Given the description of an element on the screen output the (x, y) to click on. 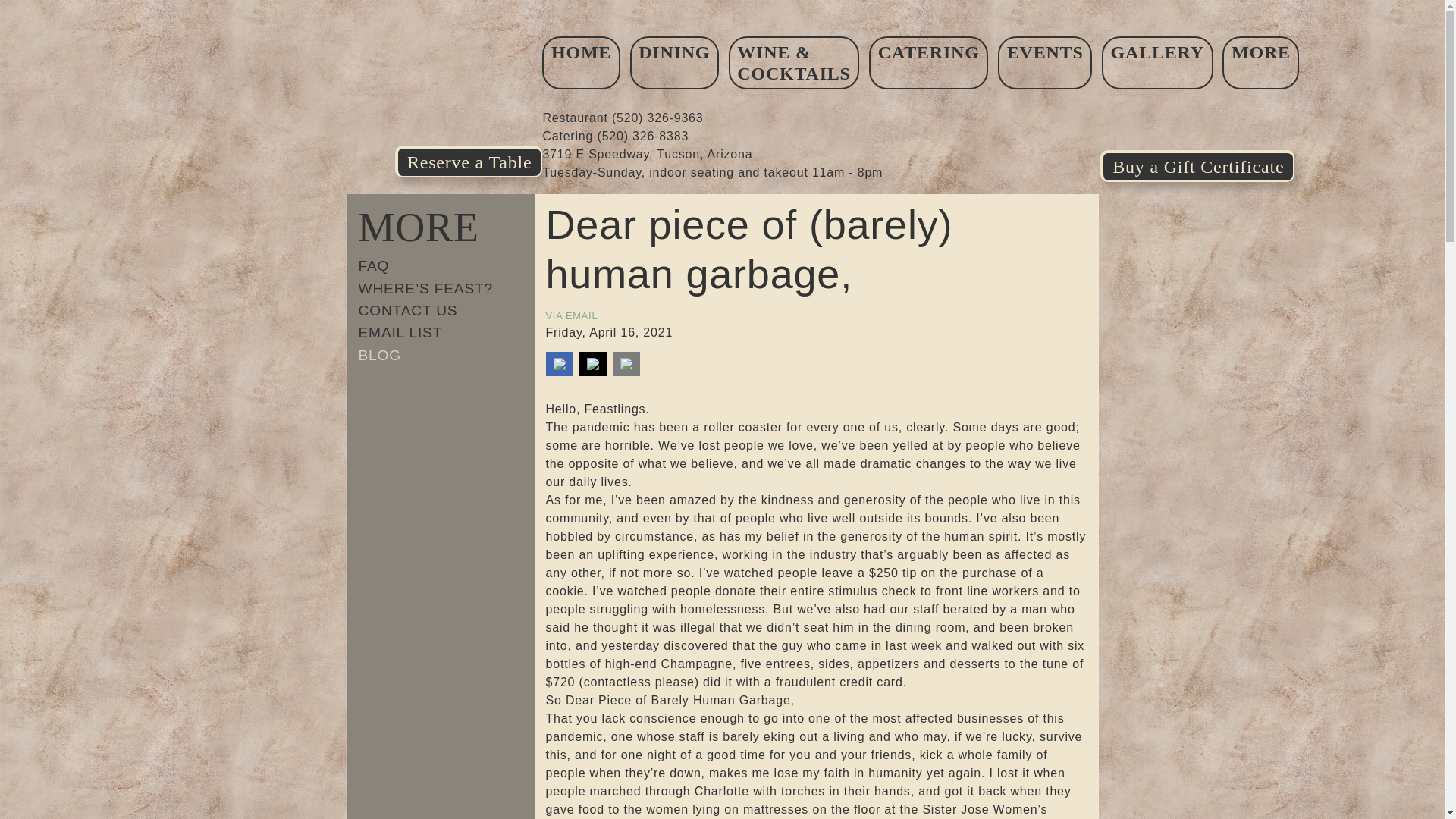
CATERING (928, 62)
Reserve a Table (443, 161)
DINING (674, 62)
HOME (580, 62)
Feast (444, 90)
EVENTS (1044, 62)
